Given the description of an element on the screen output the (x, y) to click on. 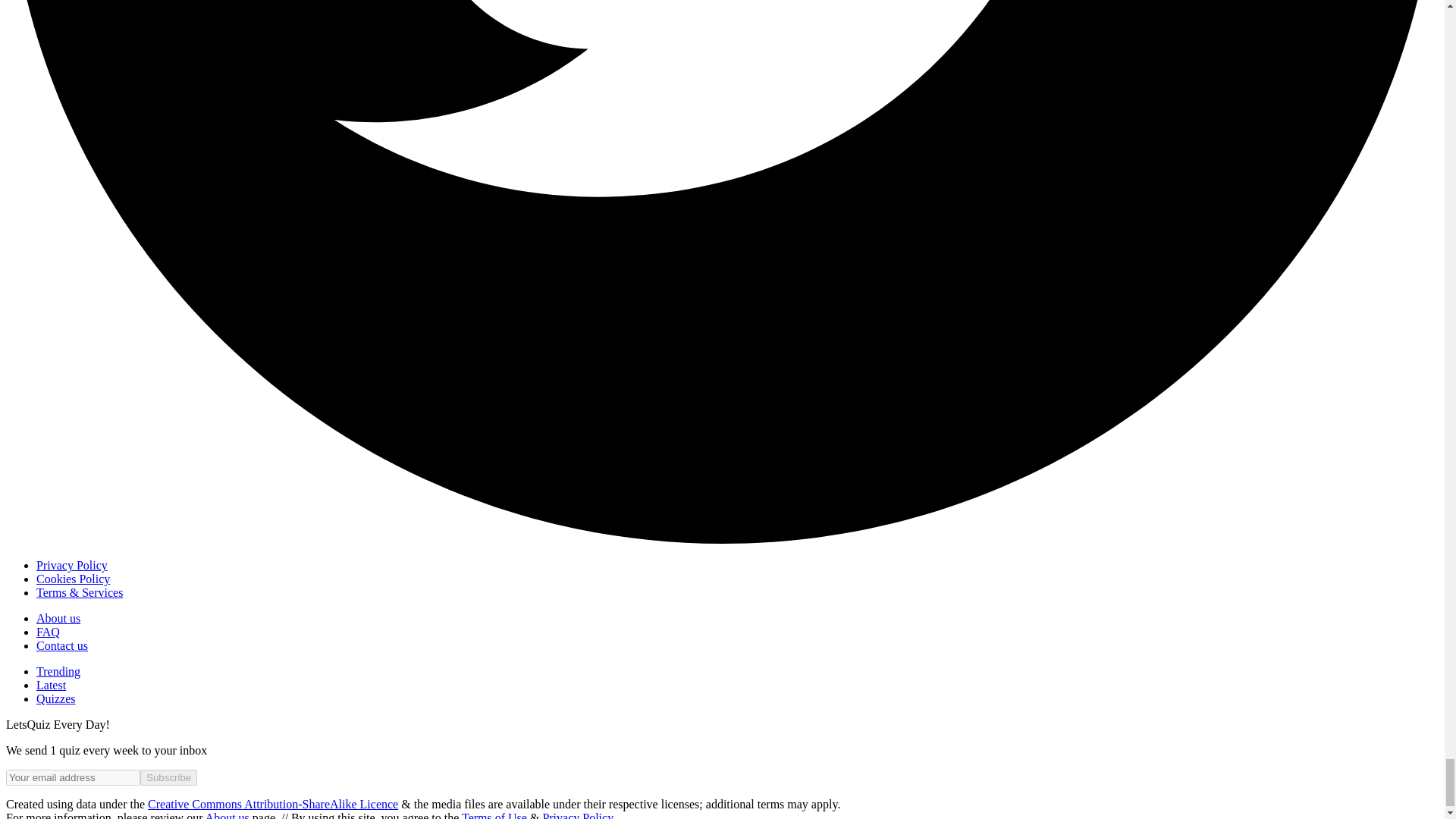
About us (58, 617)
Privacy Policy (71, 564)
Cookies Policy (73, 578)
